Given the description of an element on the screen output the (x, y) to click on. 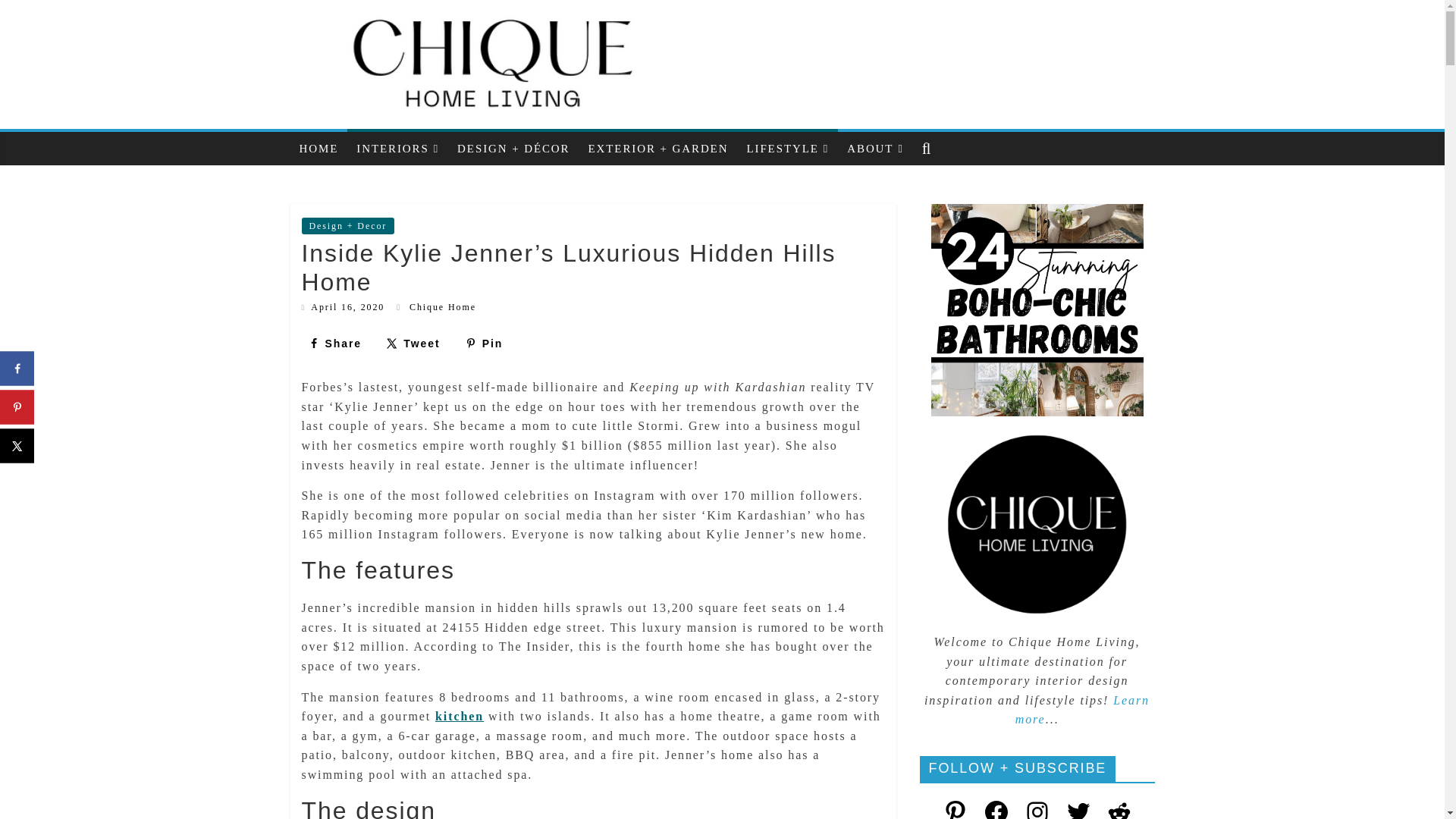
Share on X (413, 343)
Share (334, 343)
11:37 pm (343, 307)
Chique Home (442, 307)
Chique Home (442, 307)
HOME (318, 148)
Share on Facebook (334, 343)
LIFESTYLE (787, 148)
Tweet (413, 343)
April 16, 2020 (343, 307)
